Given the description of an element on the screen output the (x, y) to click on. 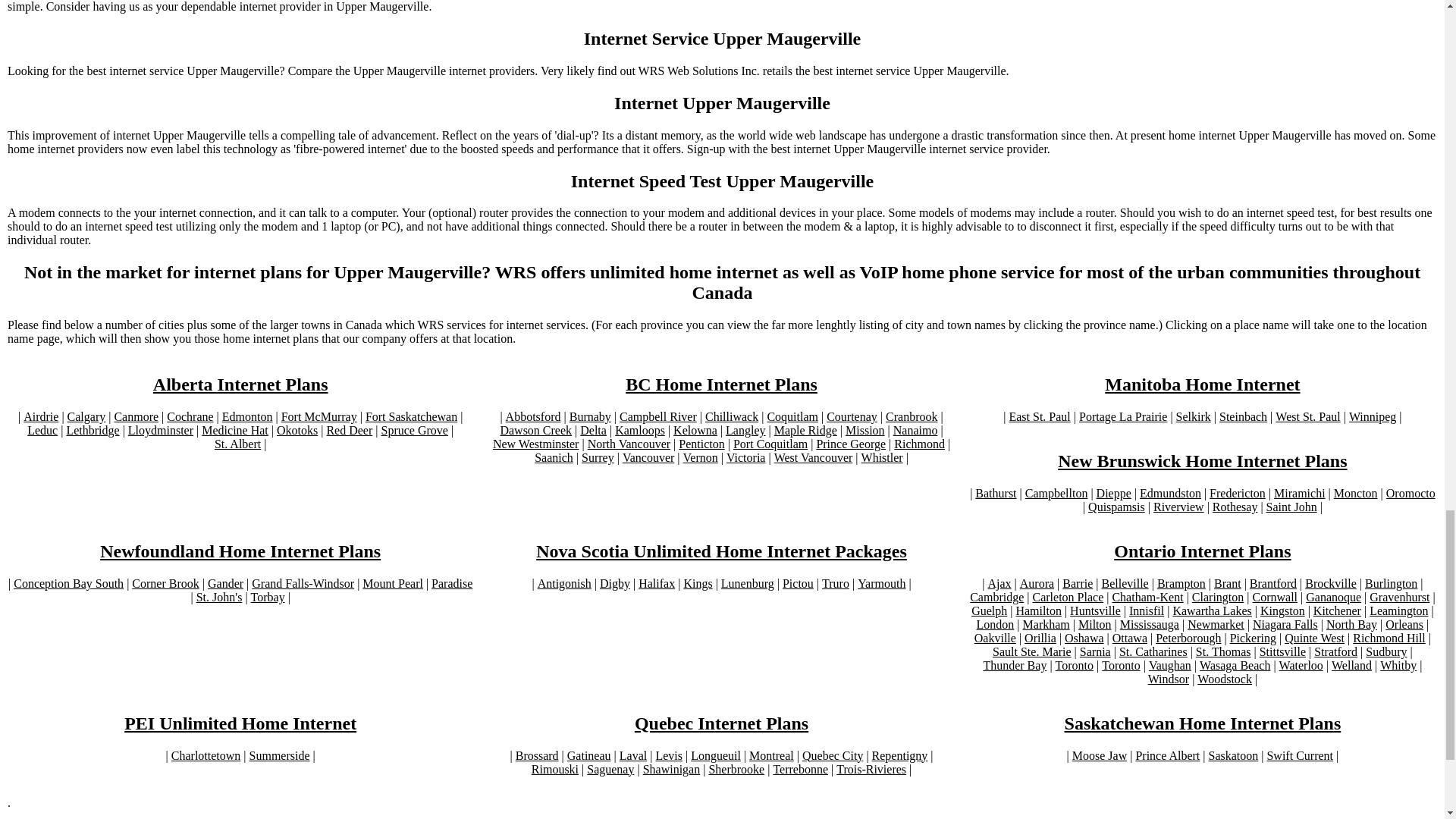
Okotoks (296, 430)
Spruce Grove (413, 430)
Fort Saskatchewan (411, 417)
Red Deer (349, 430)
Leduc (42, 430)
Lethbridge (92, 430)
Calgary (86, 417)
Medicine Hat (234, 430)
Canmore (135, 417)
Edmonton (247, 417)
